Given the description of an element on the screen output the (x, y) to click on. 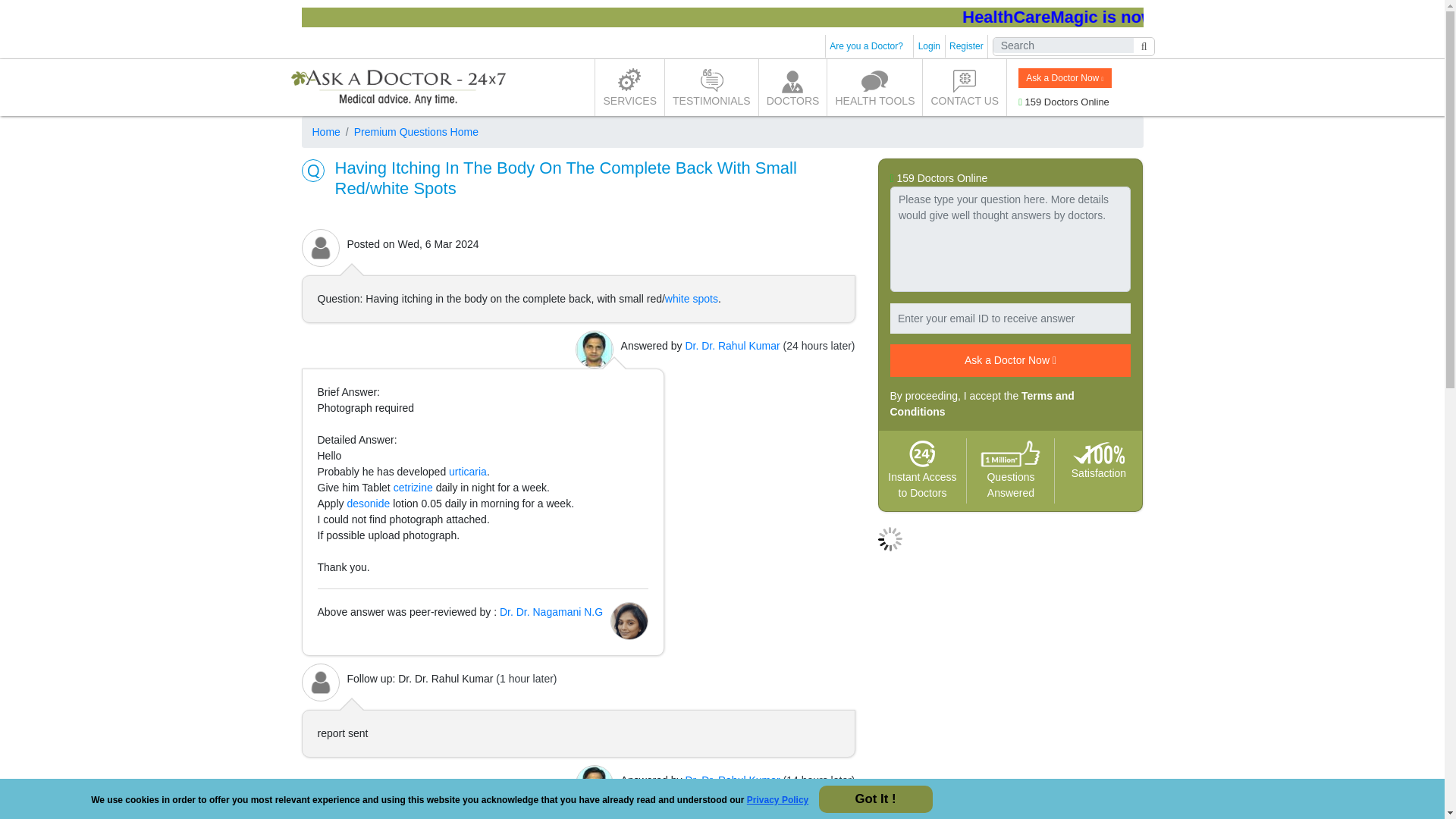
Premium Questions Home (409, 132)
HEALTH TOOLS (874, 87)
SERVICES (629, 87)
Ask a Doctor 24x7 (397, 87)
DOCTORS (792, 87)
Dr. Dr. Nagamani N.G (550, 612)
CONTACT US (964, 87)
cetrizine (412, 487)
TESTIMONIALS (711, 87)
white spots (691, 298)
Dr. Dr. Rahul Kumar (731, 345)
Ask a Doctor Now (1063, 77)
Register (966, 45)
Privacy Policy (777, 799)
Login (929, 45)
